Given the description of an element on the screen output the (x, y) to click on. 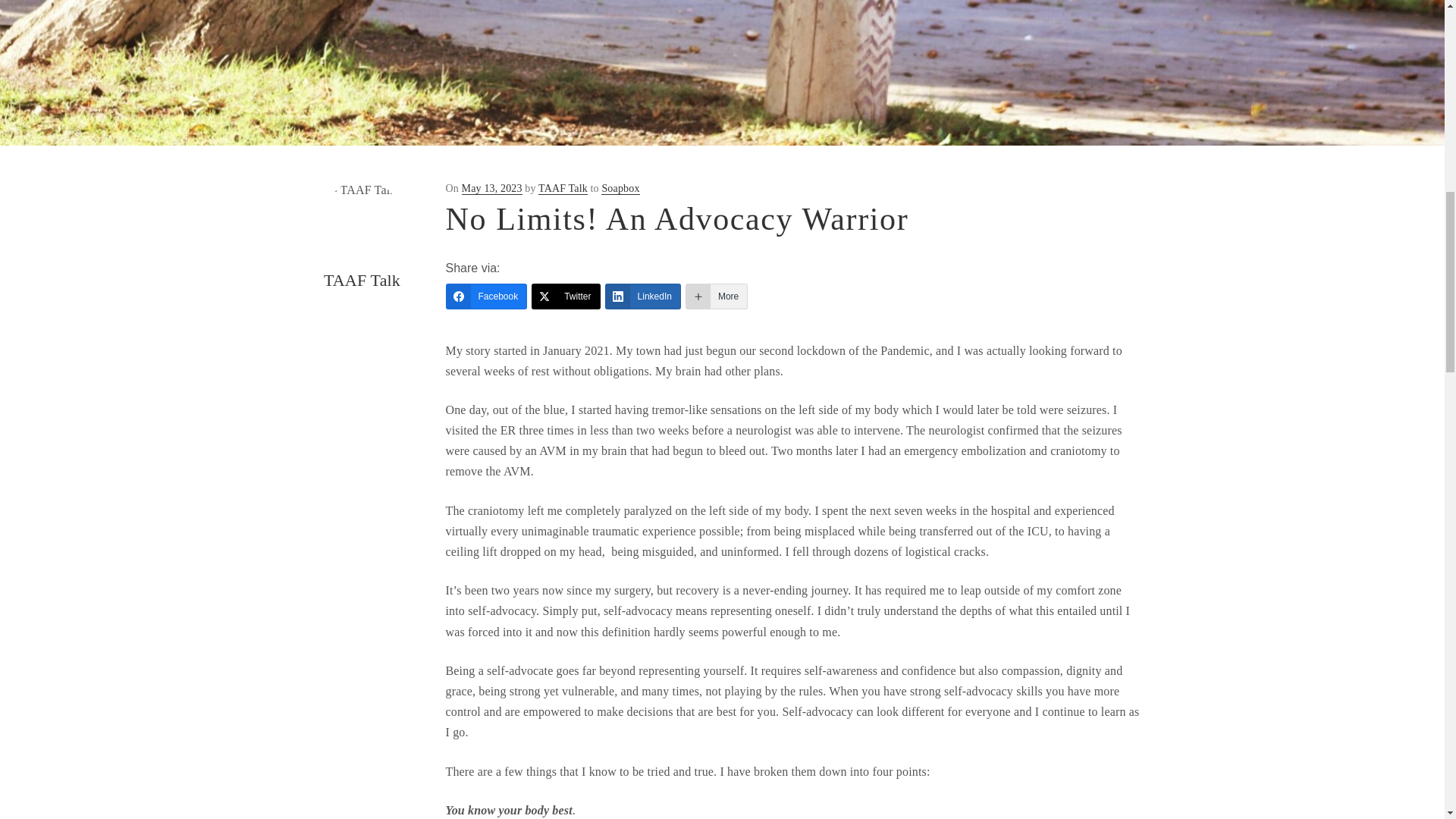
May 13, 2023 (491, 188)
TAAF Talk (563, 188)
Soapbox (620, 188)
Twitter (565, 296)
More (716, 296)
LinkedIn (643, 296)
Facebook (486, 296)
